Given the description of an element on the screen output the (x, y) to click on. 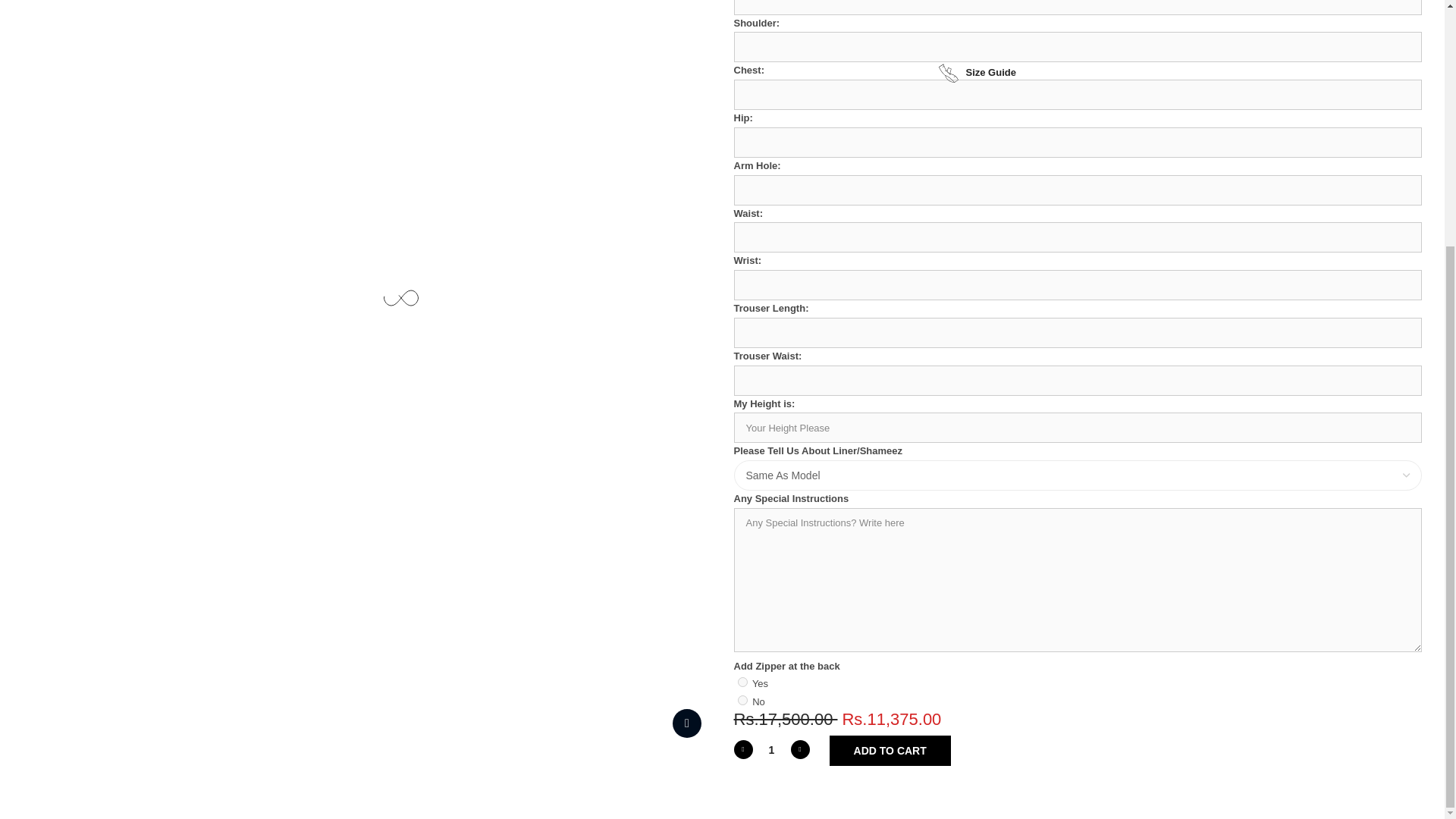
Yes (741, 682)
No (741, 700)
ADD TO CART (889, 750)
1 (771, 750)
